Given the description of an element on the screen output the (x, y) to click on. 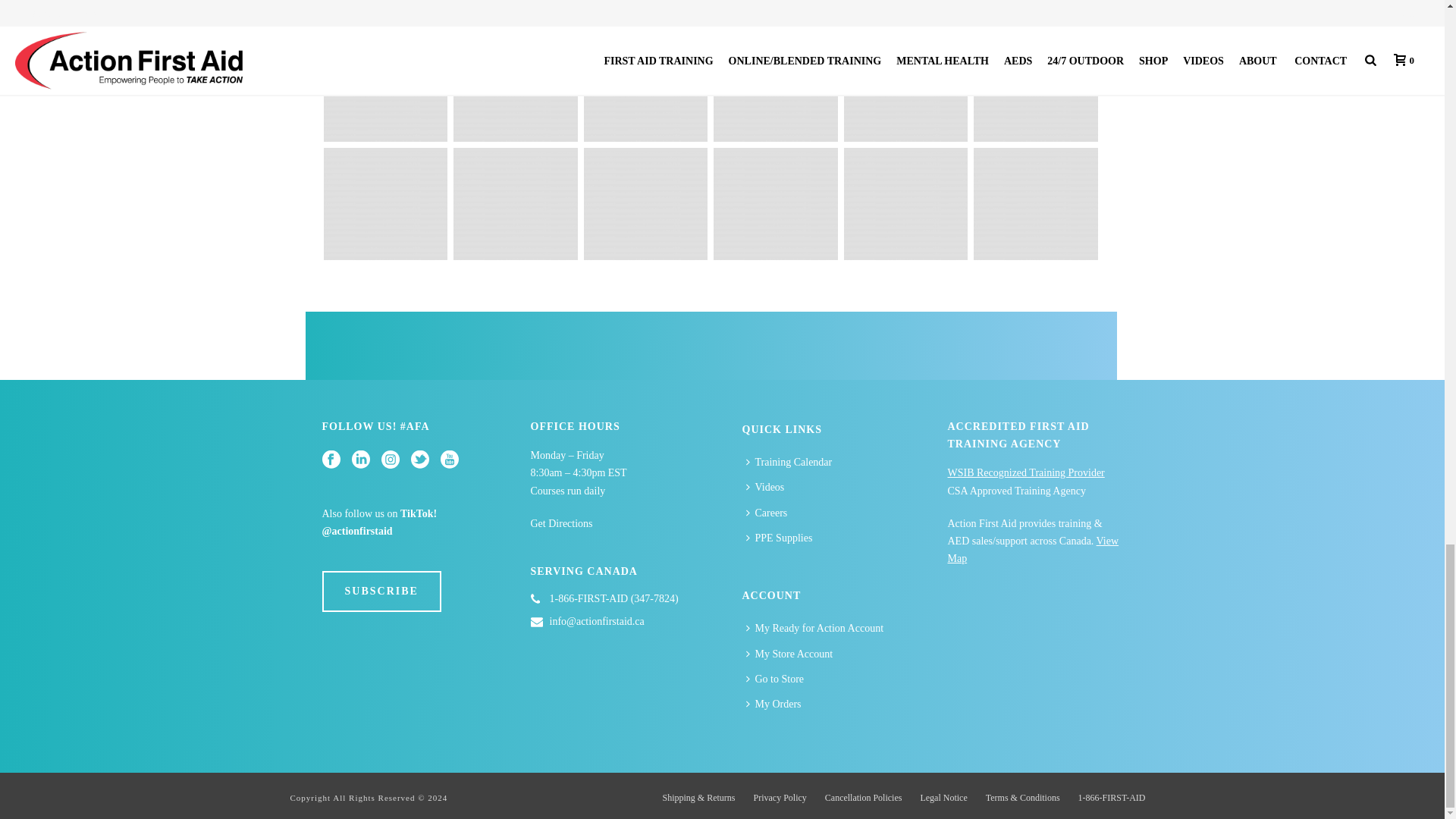
Shock on the Dock (775, 85)
Shock on the Dock (906, 85)
SUBSCRIBE (381, 590)
Shock on the Dock (384, 85)
Shock on the Dock (645, 85)
Shock on the Dock (515, 85)
